Given the description of an element on the screen output the (x, y) to click on. 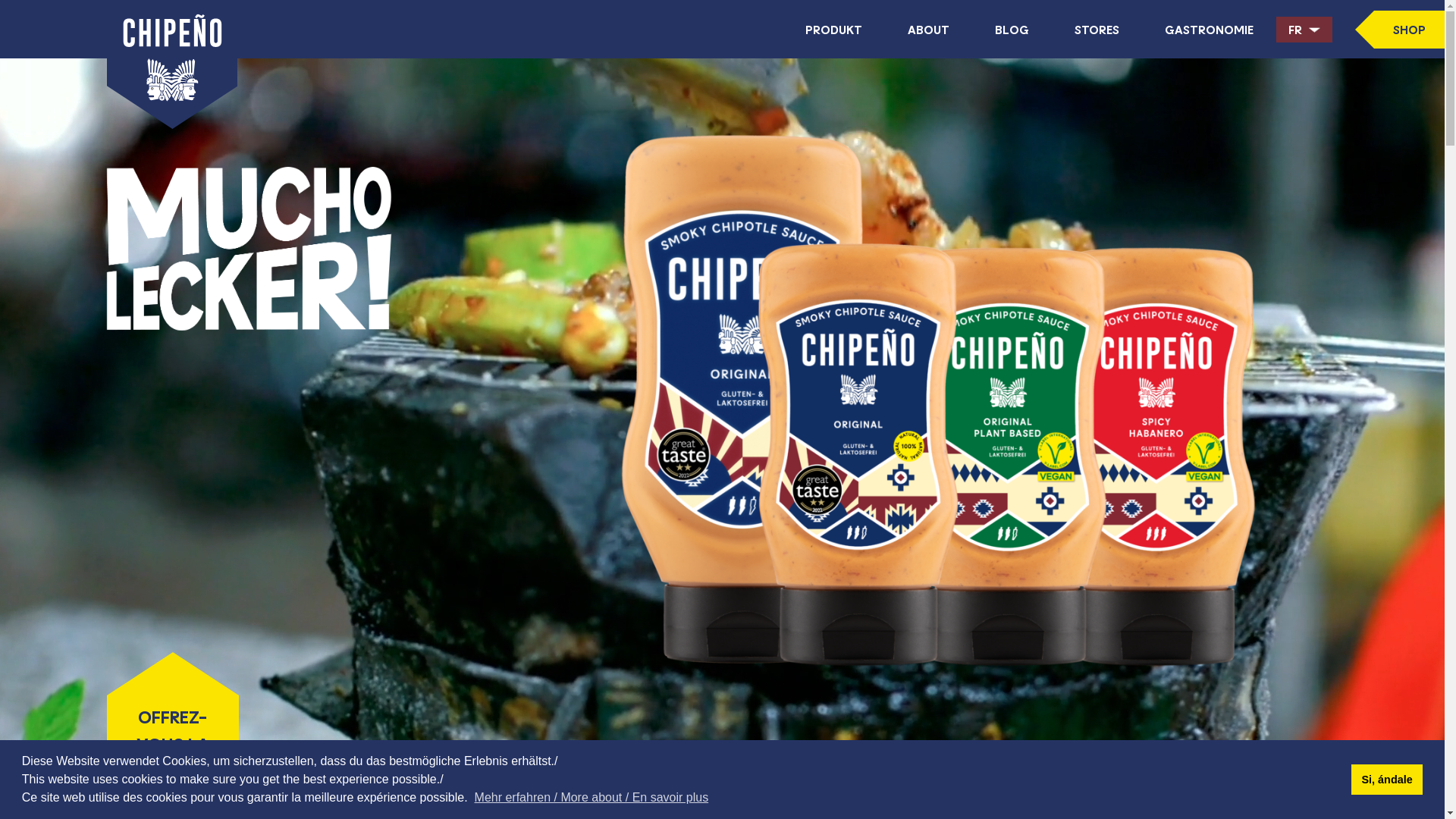
SHOP Element type: text (1399, 29)
ABOUT Element type: text (928, 29)
BLOG Element type: text (1011, 29)
Mehr erfahren / More about / En savoir plus Element type: text (591, 796)
STORES Element type: text (1096, 29)
FR ARROW-DOWN Element type: text (1304, 29)
GASTRONOMIE Element type: text (1209, 29)
PRODUKT Element type: text (833, 29)
